Given the description of an element on the screen output the (x, y) to click on. 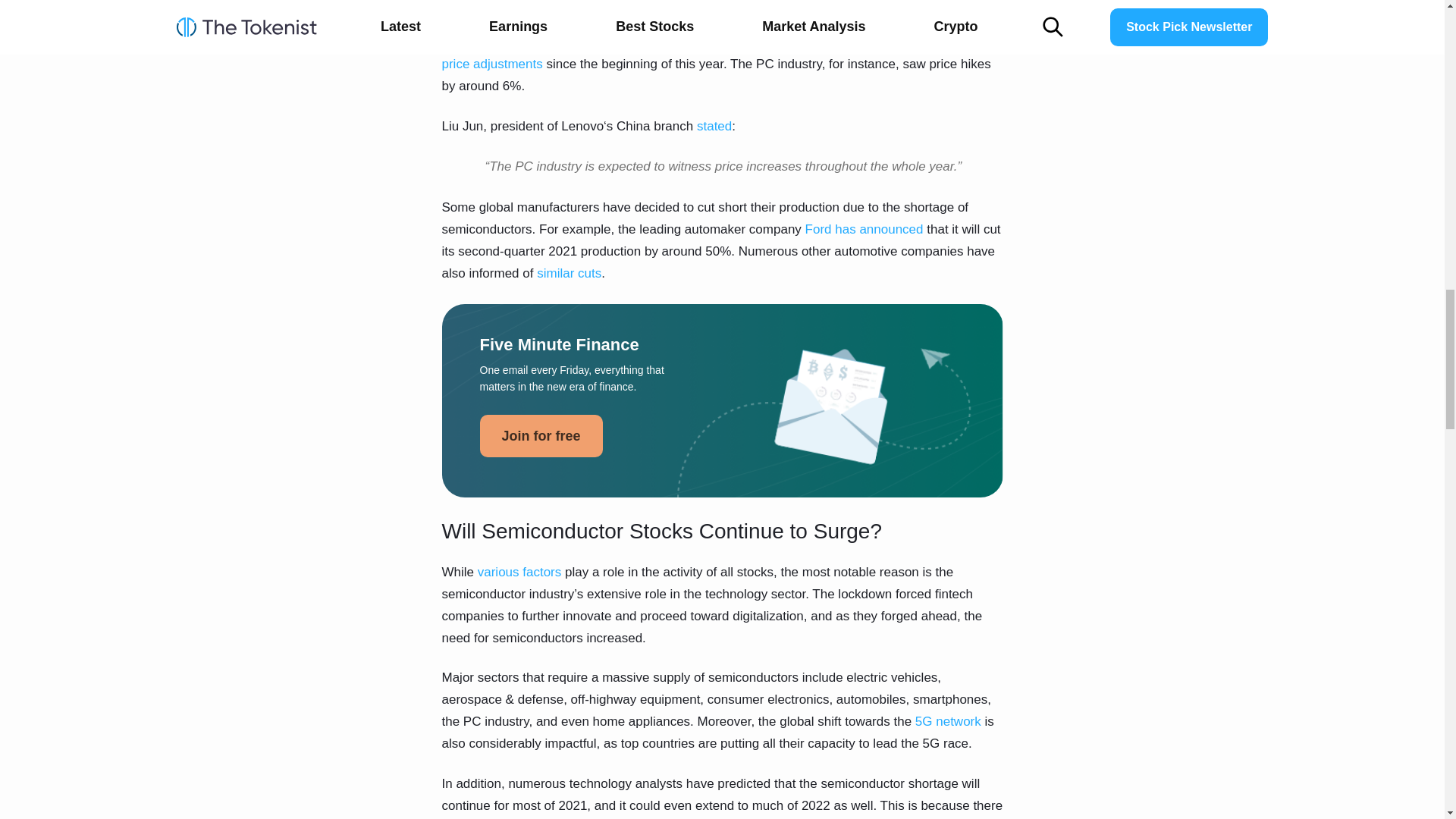
stated (714, 124)
similar cuts (569, 273)
Ford has announced (864, 228)
price adjustments (491, 63)
5G network (948, 721)
Join for free (540, 435)
various factors (519, 572)
